Given the description of an element on the screen output the (x, y) to click on. 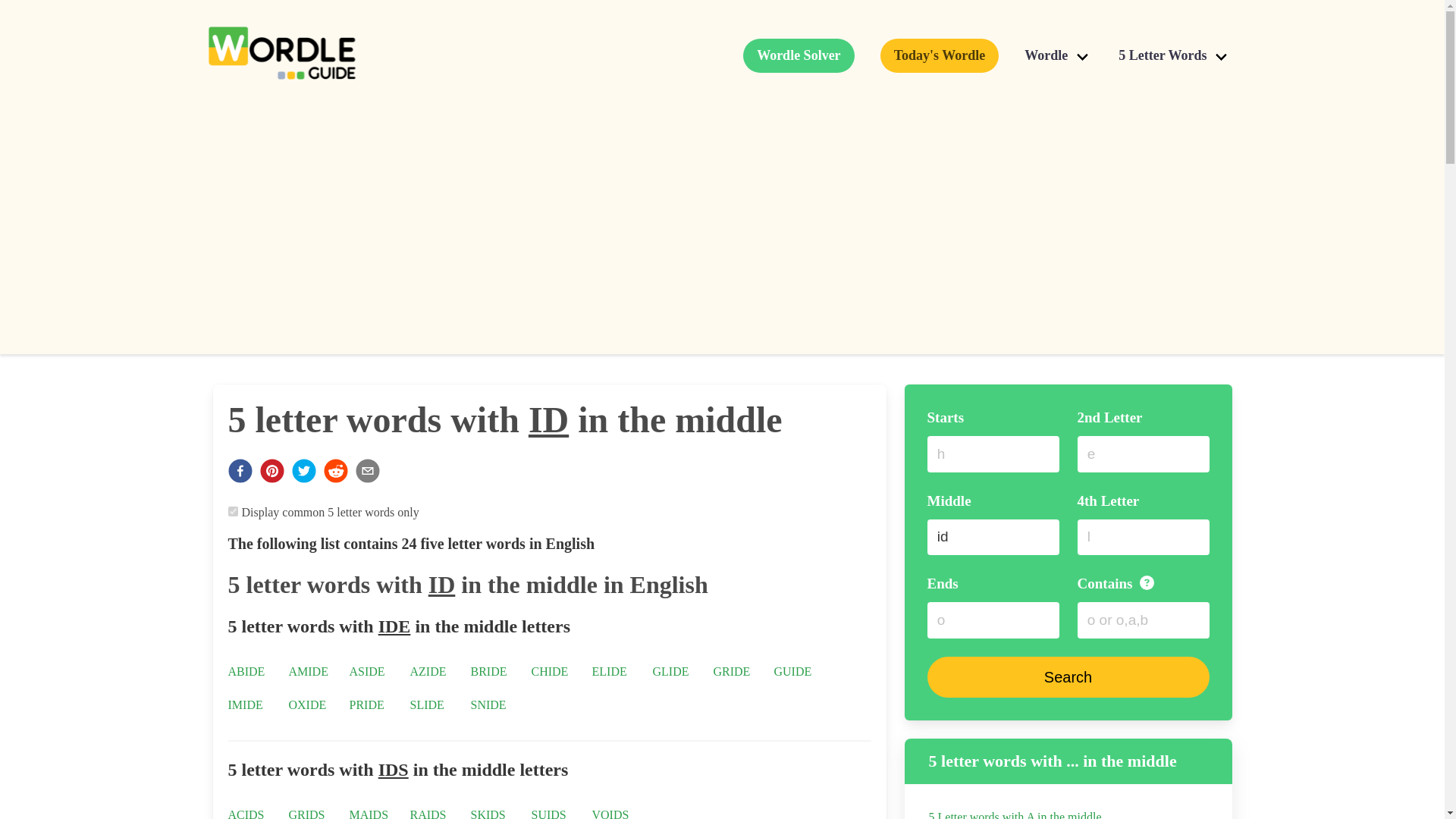
id (993, 536)
Today's Wordle (939, 55)
AMIDE (307, 670)
GLIDE (670, 670)
AZIDE (427, 670)
on (232, 511)
ELIDE (608, 670)
CHIDE (549, 670)
ABIDE (245, 670)
ASIDE (366, 670)
5 Letter Words (1174, 55)
BRIDE (488, 670)
Wordle Solver (798, 55)
Wordle (1058, 55)
